Given the description of an element on the screen output the (x, y) to click on. 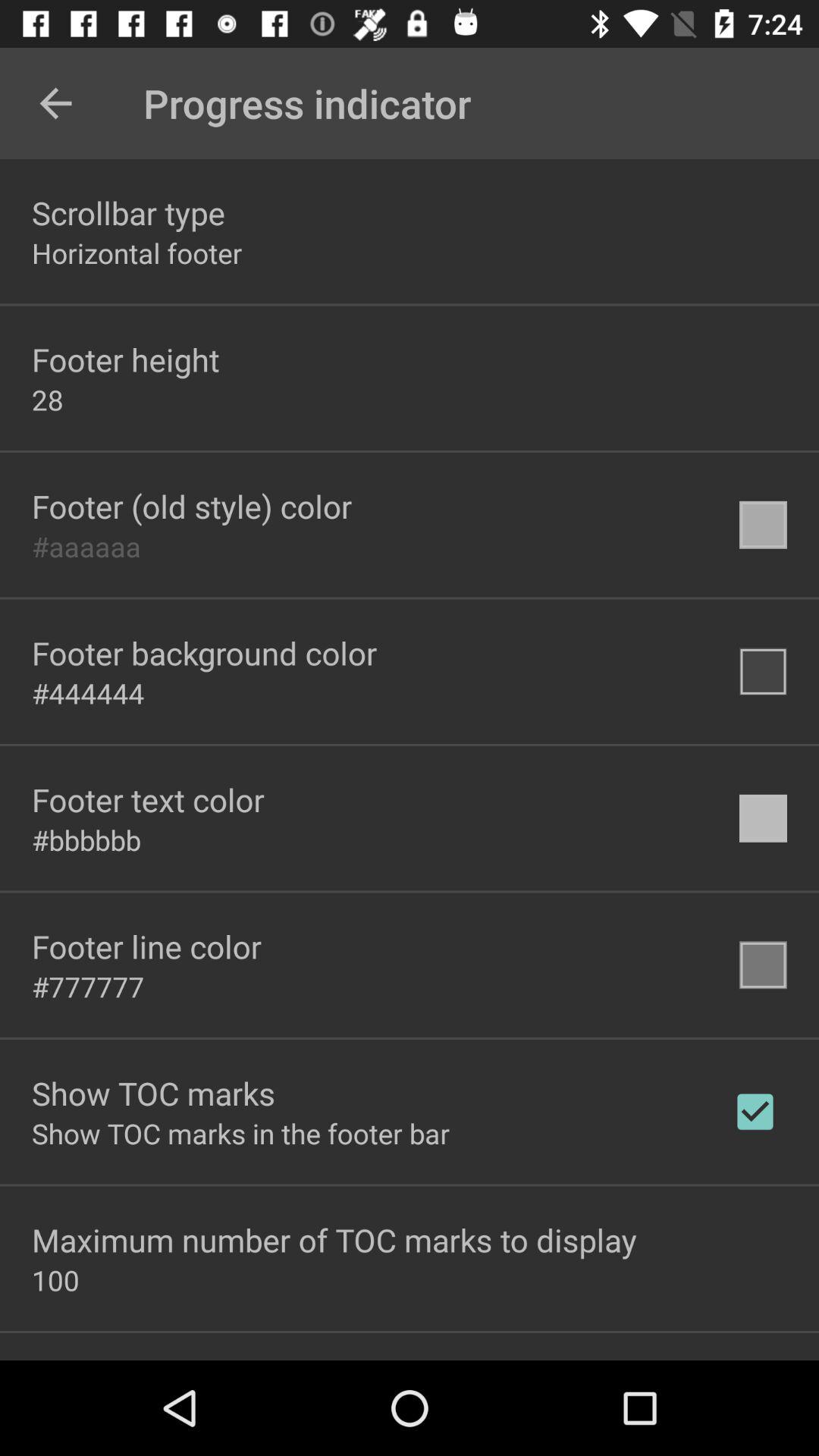
select the icon above the scrollbar type item (55, 103)
